Given the description of an element on the screen output the (x, y) to click on. 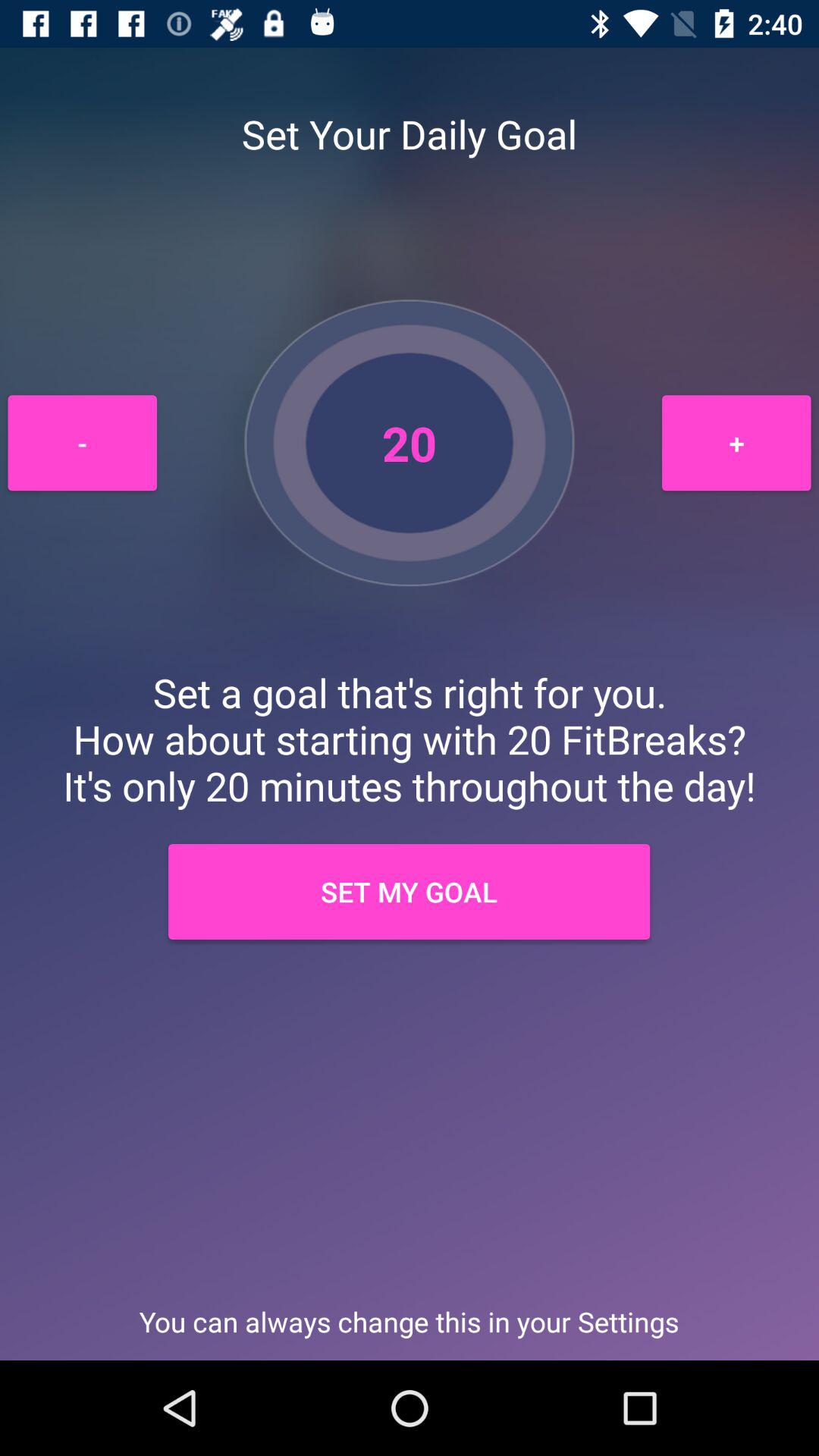
turn on the + icon (736, 442)
